Given the description of an element on the screen output the (x, y) to click on. 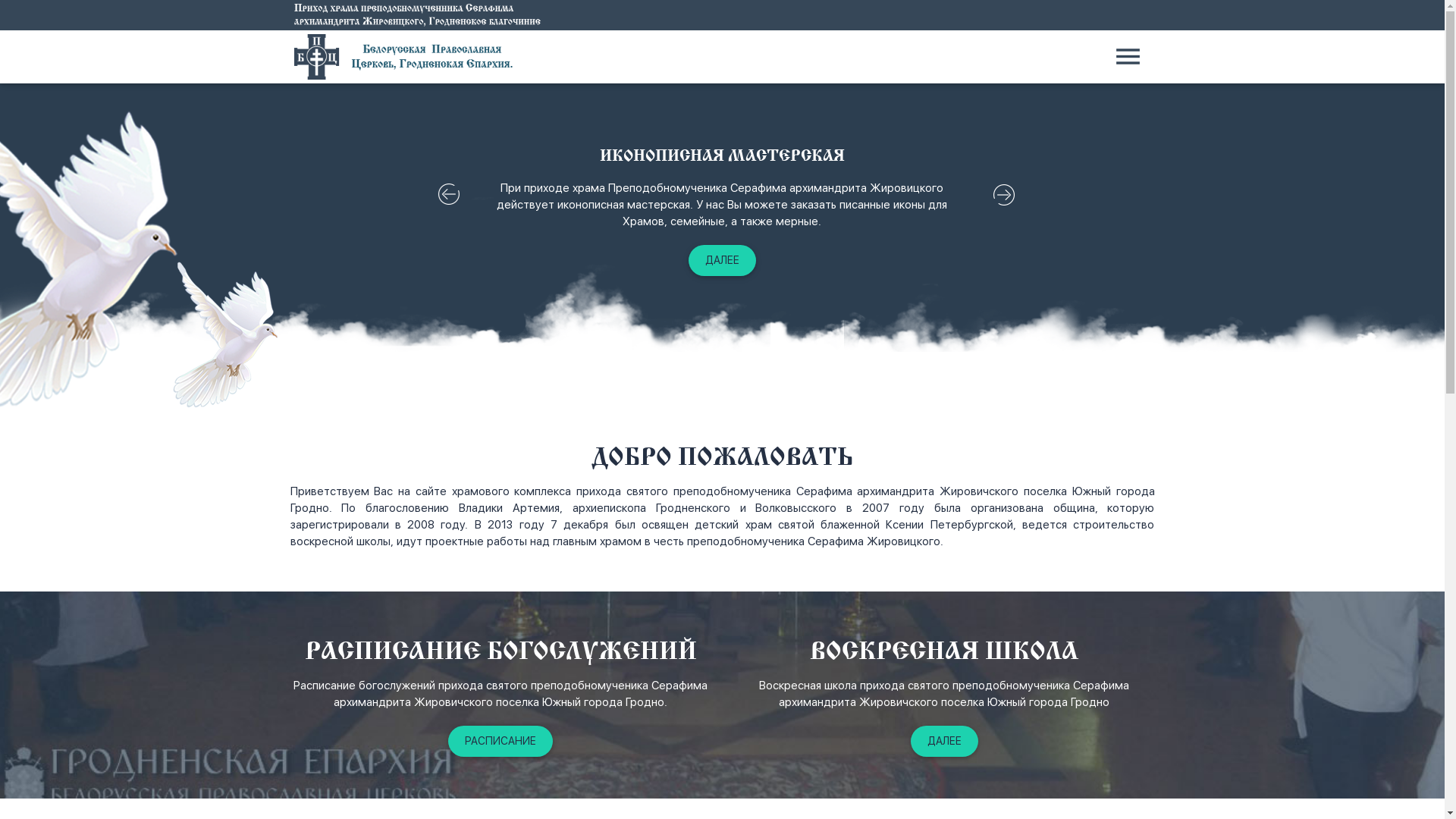
menu Element type: text (1127, 56)
